Given the description of an element on the screen output the (x, y) to click on. 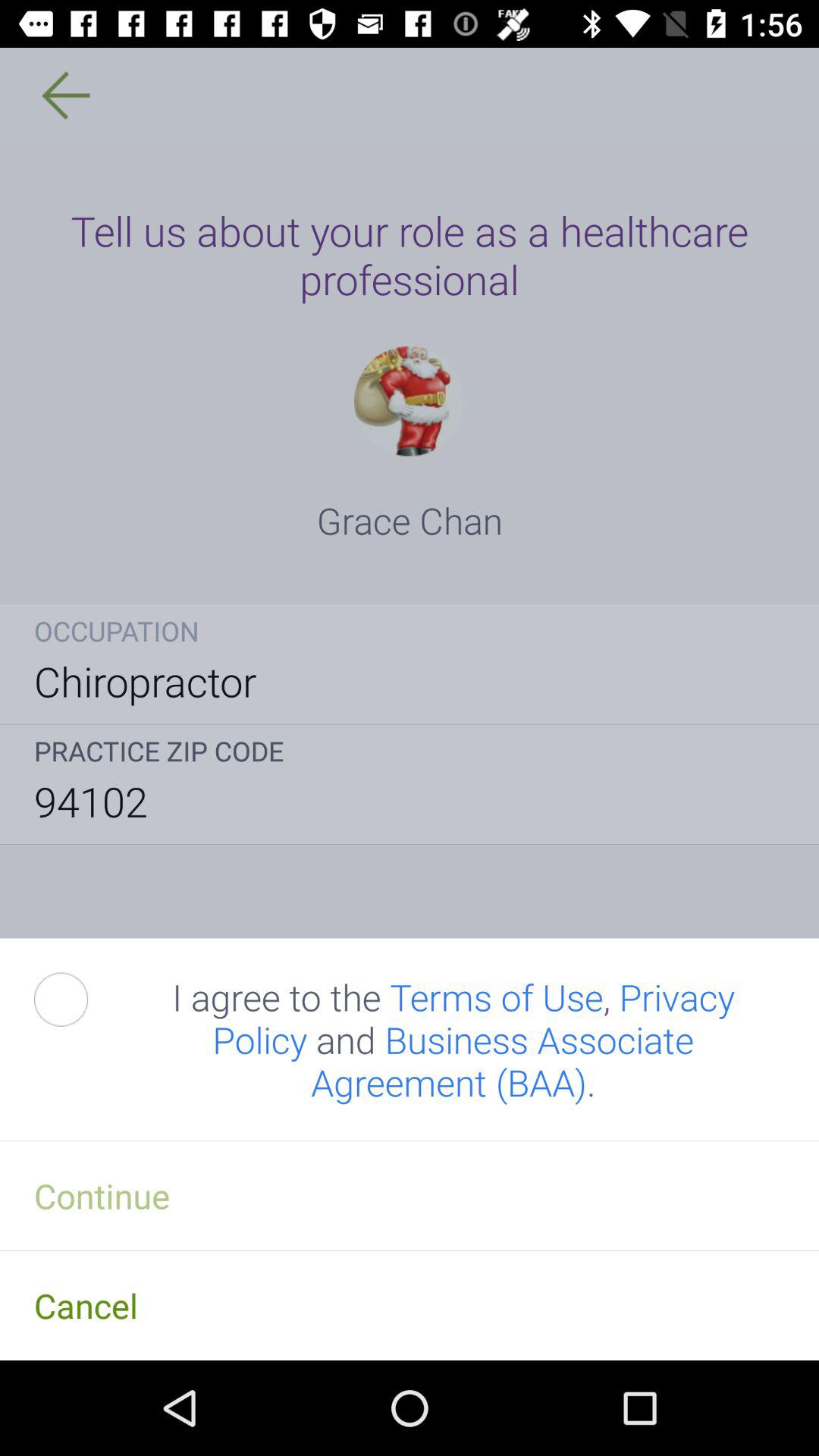
check to agree with t c (78, 999)
